Given the description of an element on the screen output the (x, y) to click on. 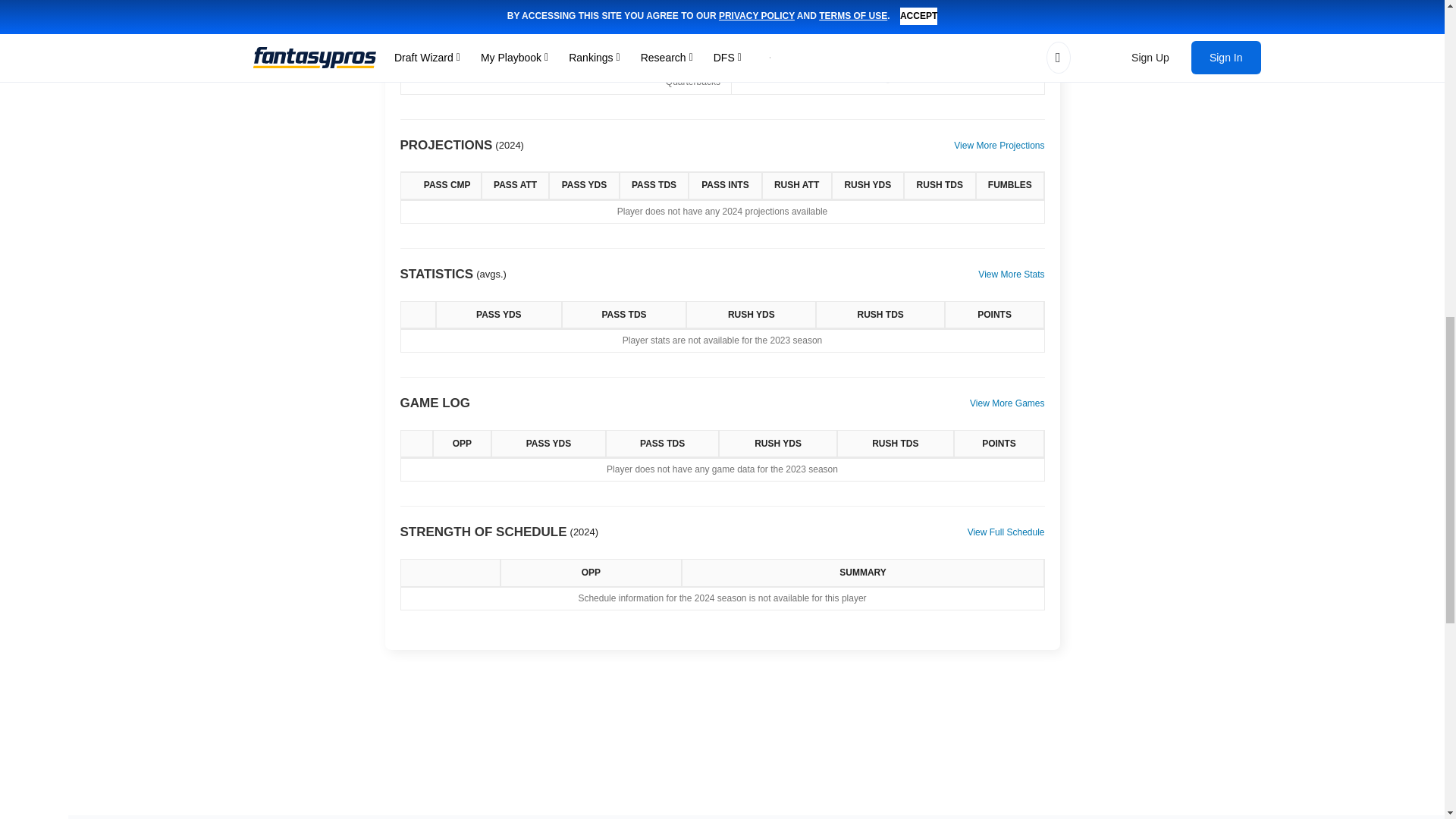
View Full Schedule (1006, 532)
View More Stats (1010, 274)
View More Projections (998, 146)
View More Games (1006, 403)
View More Rankings (1002, 2)
